Given the description of an element on the screen output the (x, y) to click on. 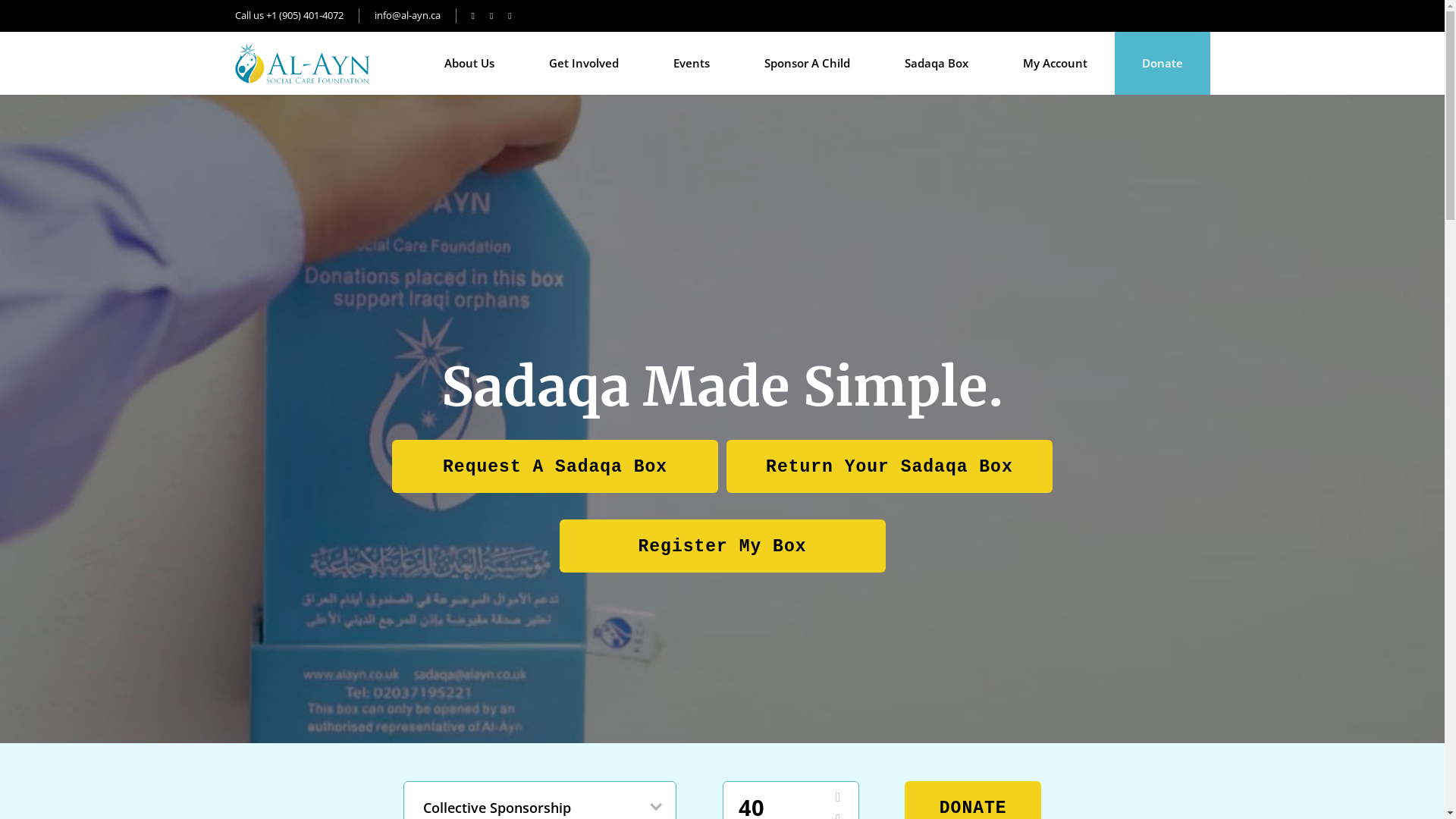
Request A Sadaqa Box Element type: text (555, 465)
My Account Element type: text (1053, 62)
Donate Element type: text (1162, 62)
info@al-ayn.ca Element type: text (407, 15)
Call us +1 (905) 401-4072 Element type: text (297, 15)
Events Element type: text (691, 62)
Sponsor A Child Element type: text (807, 62)
Sadaqa Box Element type: text (935, 62)
Get Involved Element type: text (583, 62)
Return Your Sadaqa Box Element type: text (889, 465)
Register My Box Element type: text (722, 544)
About Us Element type: text (469, 62)
